Given the description of an element on the screen output the (x, y) to click on. 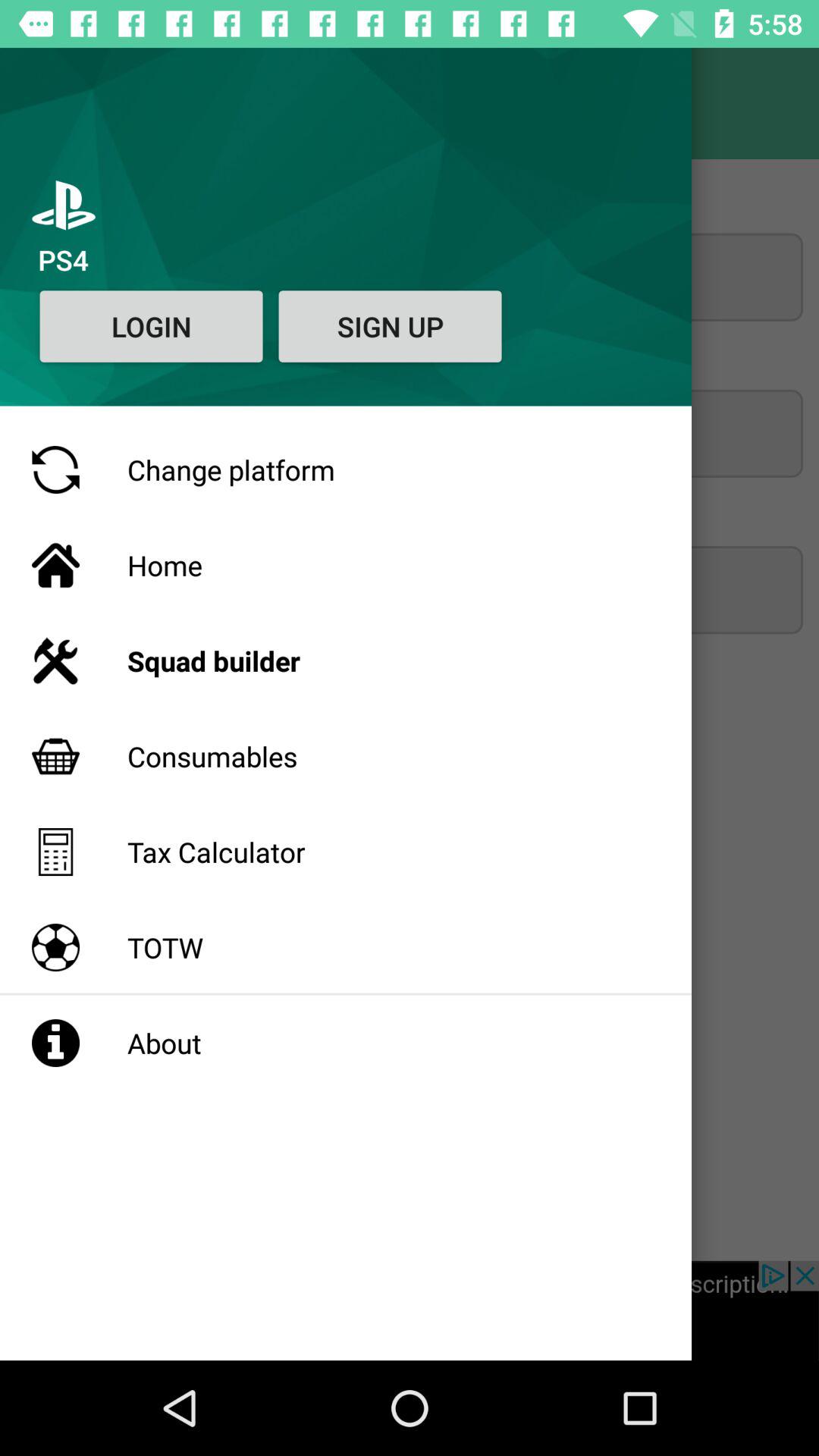
go to the change platform (409, 433)
